Given the description of an element on the screen output the (x, y) to click on. 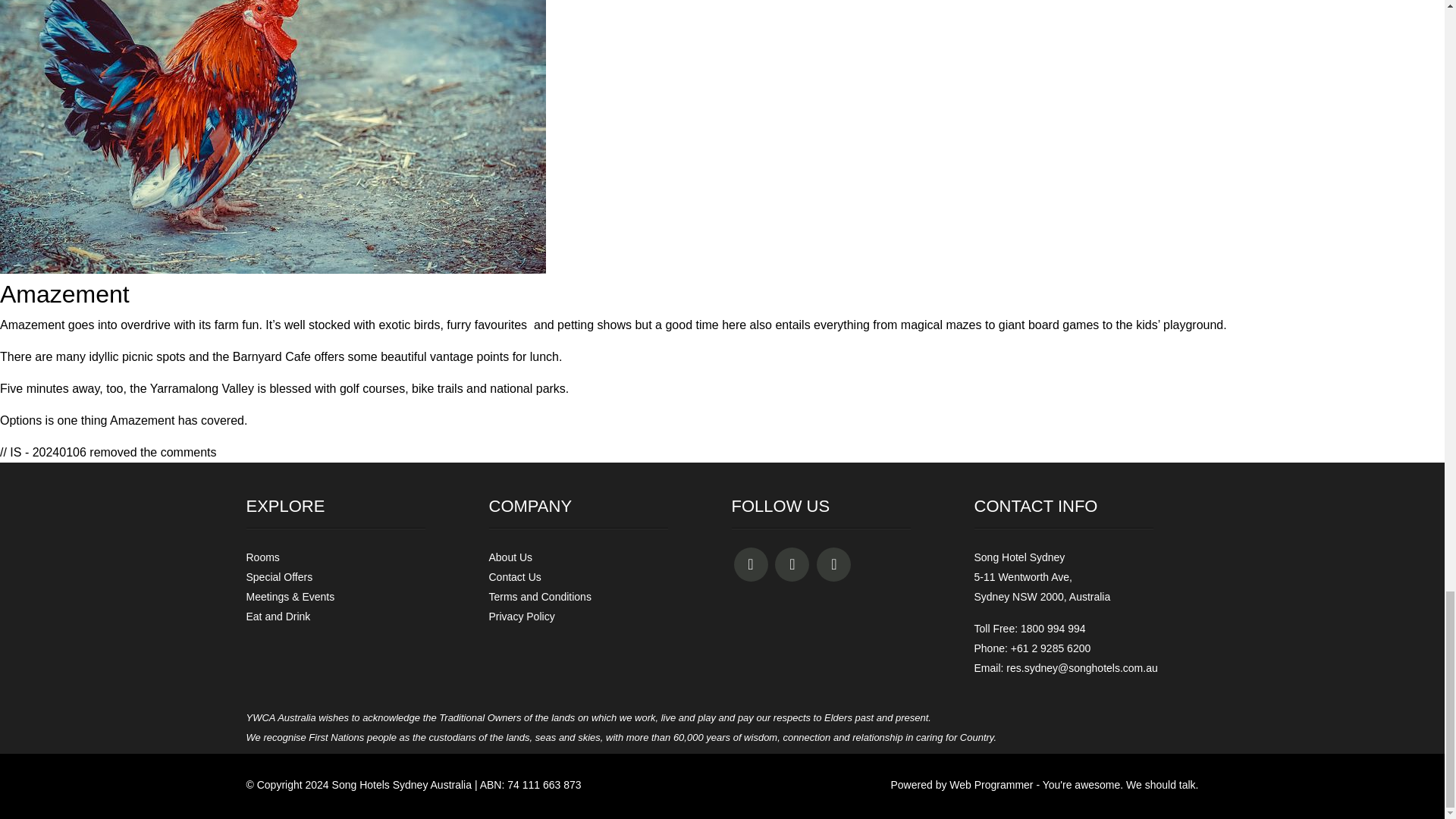
youtube (833, 564)
Terms and Conditions (539, 596)
facebook (750, 564)
1800 994 994 (1053, 628)
Eat and Drink (278, 616)
Privacy Policy (520, 616)
About Us (509, 557)
Rooms (262, 557)
Contact Us (513, 576)
Special Offers (279, 576)
